Given the description of an element on the screen output the (x, y) to click on. 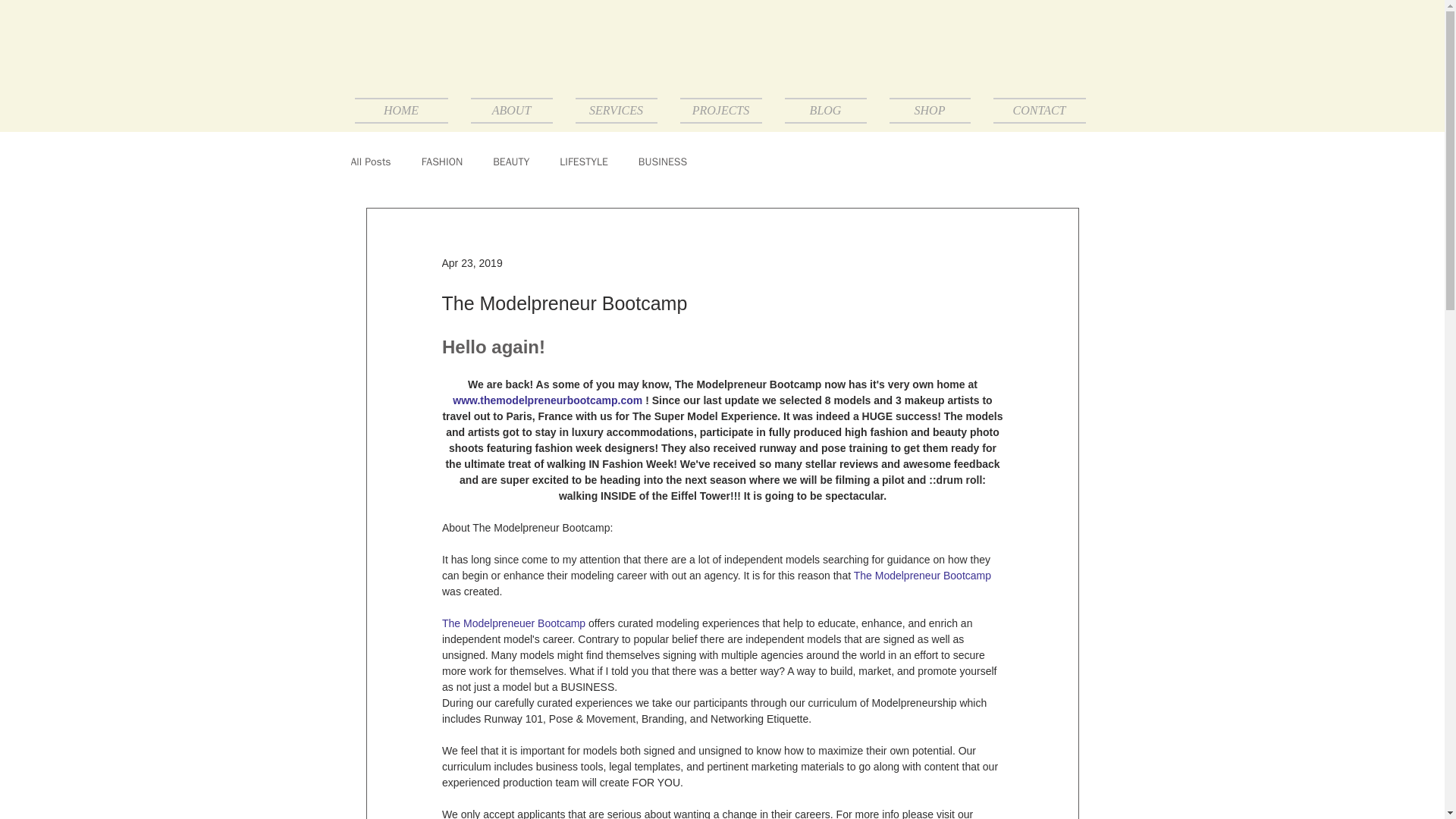
LIFESTYLE (583, 161)
BEAUTY (511, 161)
CONTACT (1032, 110)
was created. (470, 591)
www.themodelpreneurbootcamp.com (547, 399)
The Modelpreneur Bootcamp (921, 575)
The Modelpreneuer Bootcamp (513, 623)
HOME (407, 110)
SERVICES (616, 110)
PROJECTS (720, 110)
SHOP (929, 110)
BLOG (825, 110)
ABOUT (512, 110)
BUSINESS (663, 161)
FASHION (442, 161)
